Given the description of an element on the screen output the (x, y) to click on. 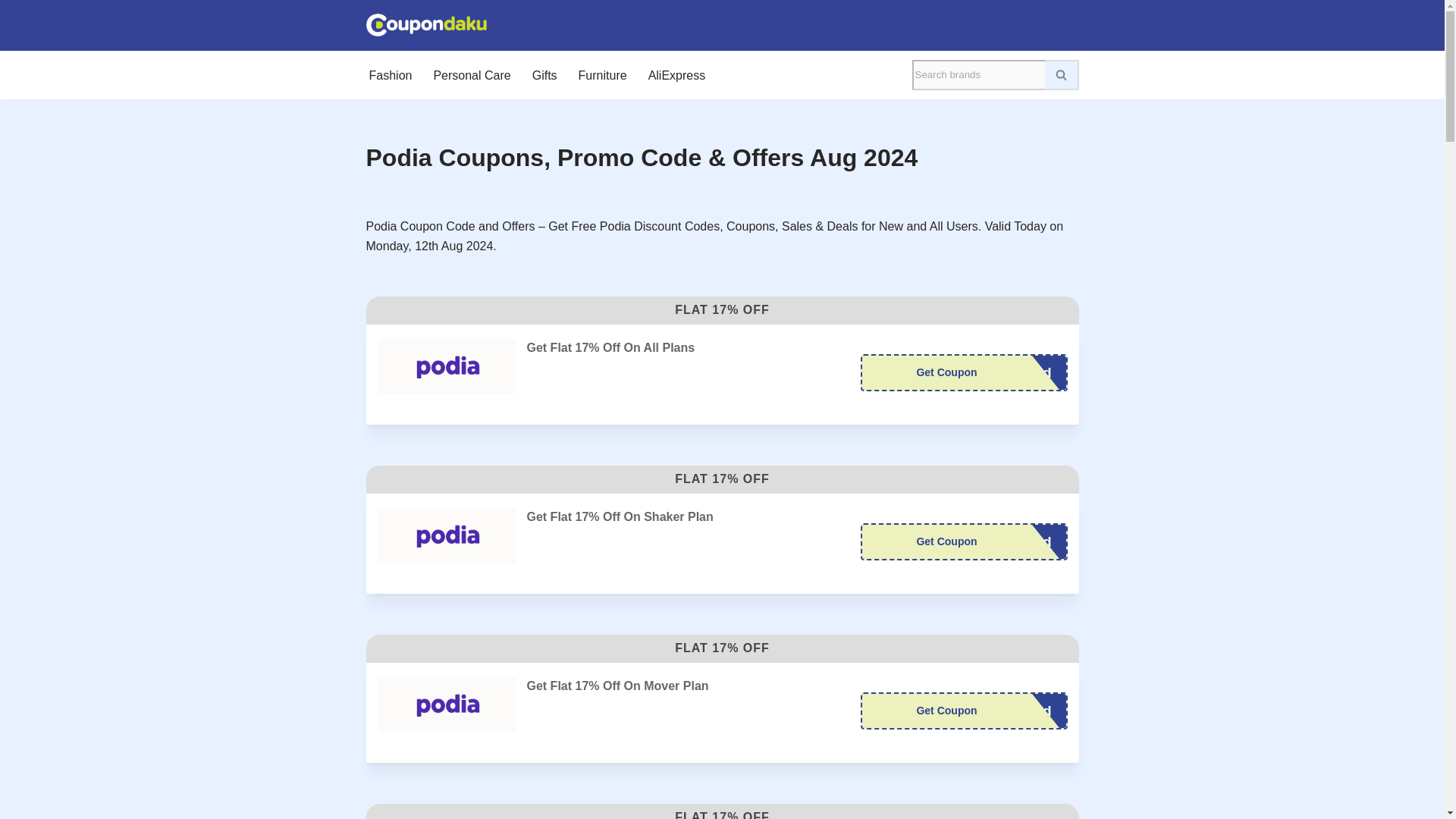
Fashion (390, 74)
Get Coupon (963, 372)
Get Coupon (963, 372)
Get Coupon (963, 710)
AliExpress (963, 541)
Gifts (676, 74)
Personal Care (963, 710)
